Given the description of an element on the screen output the (x, y) to click on. 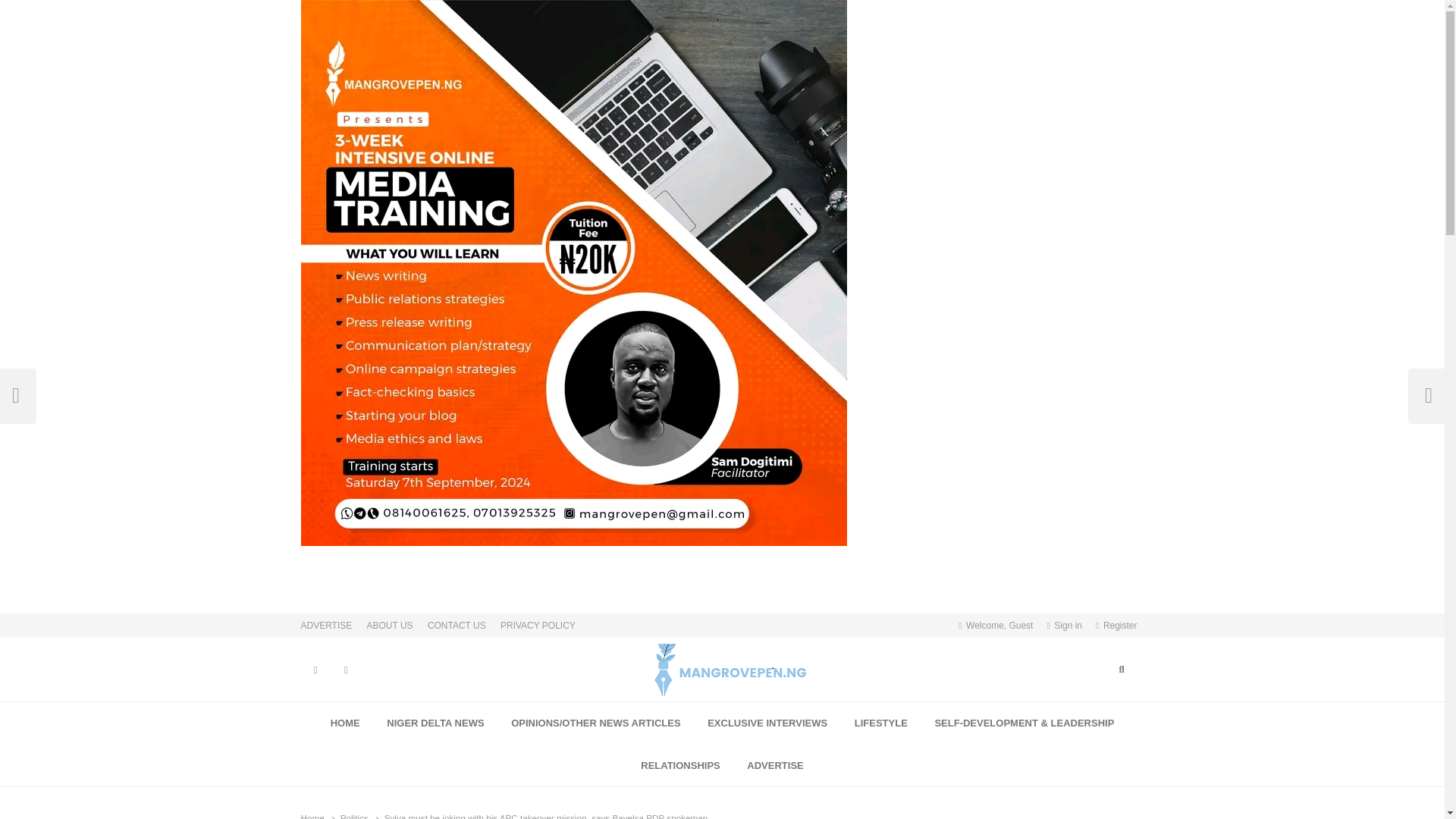
Sign in to your account (1064, 625)
EXCLUSIVE INTERVIEWS (767, 722)
RELATIONSHIPS (680, 765)
Mangrove Pen (608, 705)
Sign in (1064, 625)
LIFESTYLE (881, 722)
Home (311, 816)
NIGER DELTA NEWS (435, 722)
